Given the description of an element on the screen output the (x, y) to click on. 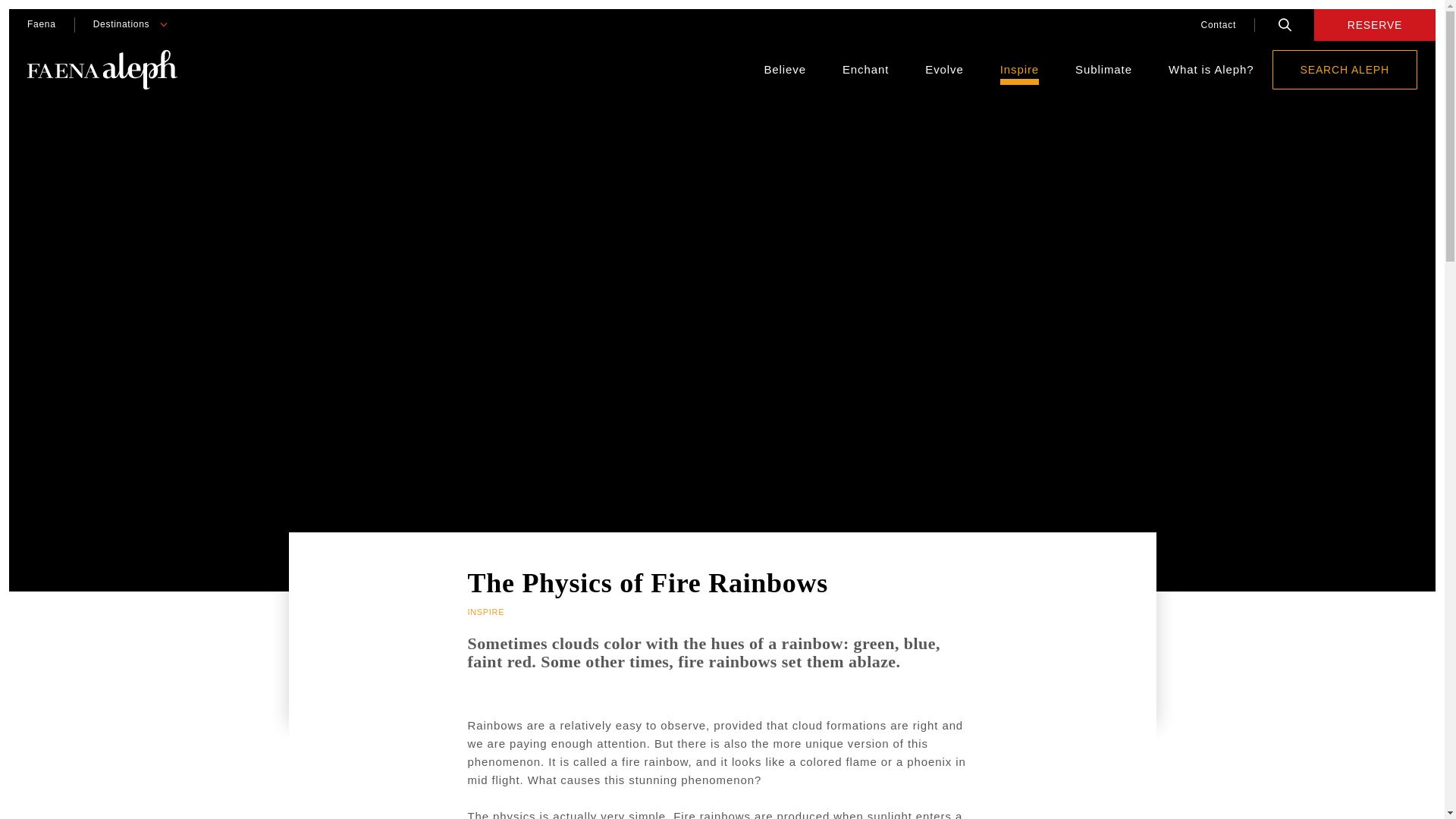
Destinations (121, 23)
Evolve (943, 69)
Faena (41, 23)
Search (1284, 24)
What is Aleph? (1211, 69)
Enchant (865, 69)
Inspire (1019, 69)
Sublimate (1103, 69)
SEARCH ALEPH (1344, 69)
